Given the description of an element on the screen output the (x, y) to click on. 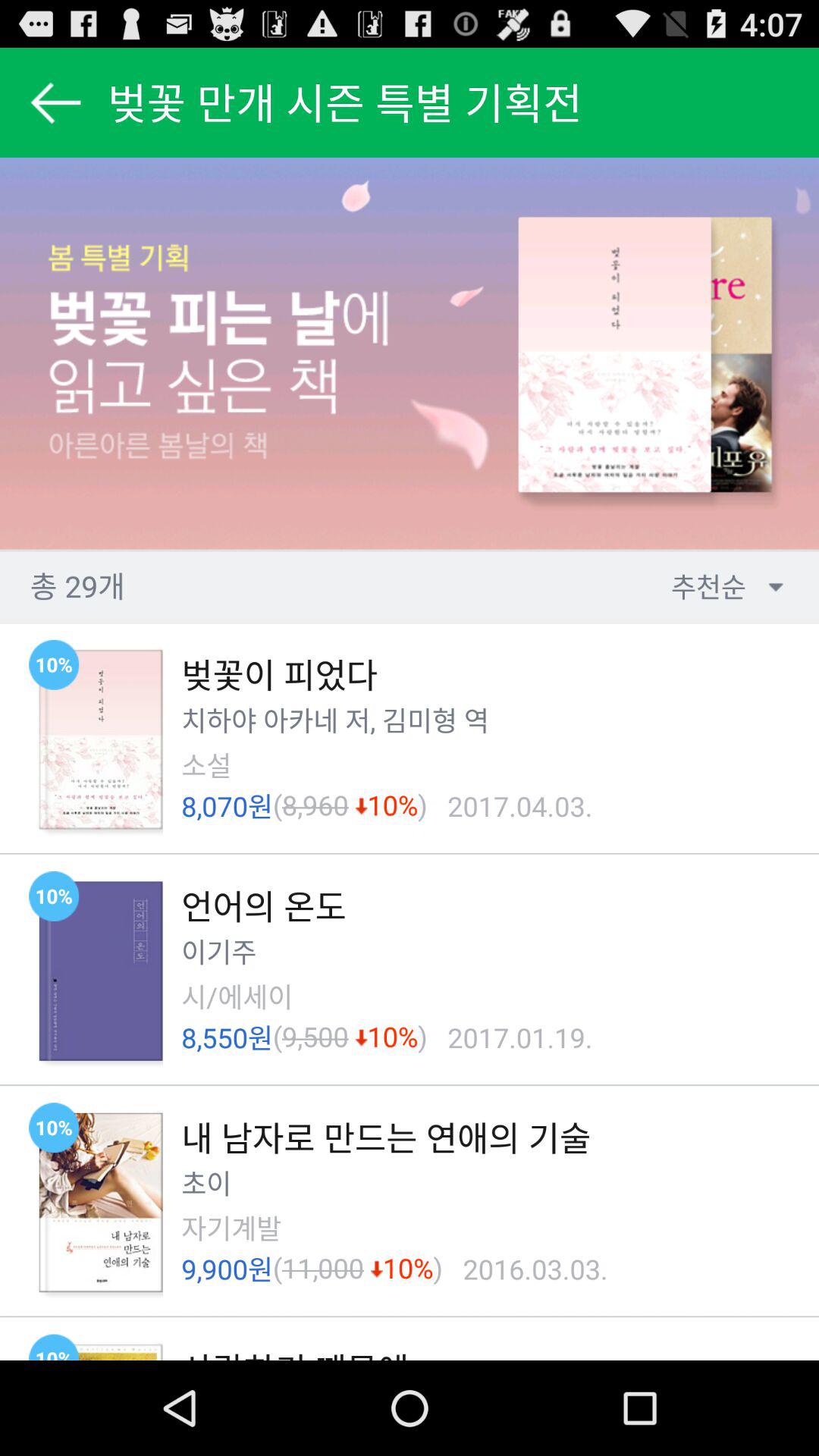
select the app to the right of ,  app (419, 719)
